Given the description of an element on the screen output the (x, y) to click on. 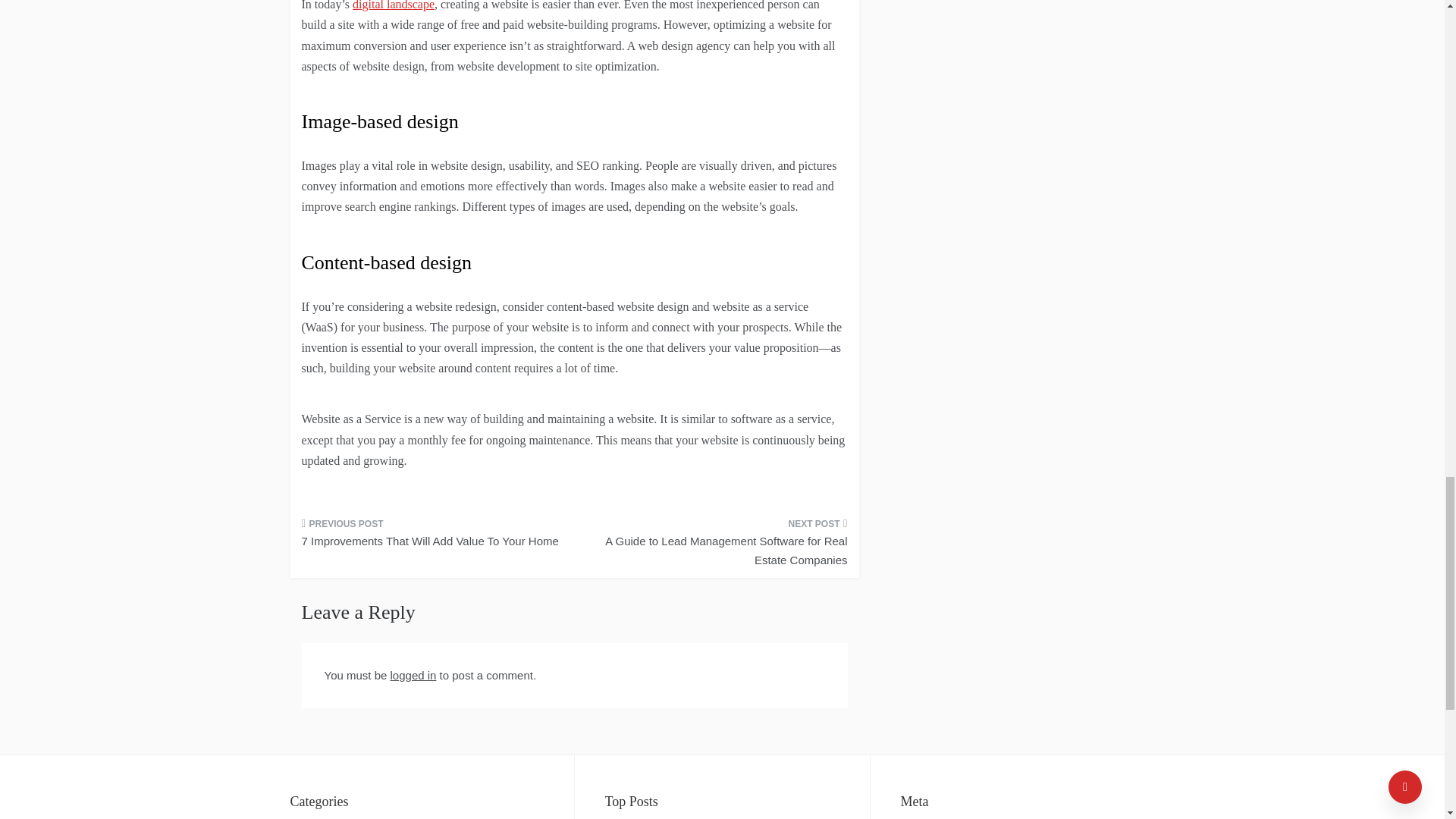
digital landscape (392, 5)
7 Improvements That Will Add Value To Your Home (432, 537)
logged in (413, 675)
